Given the description of an element on the screen output the (x, y) to click on. 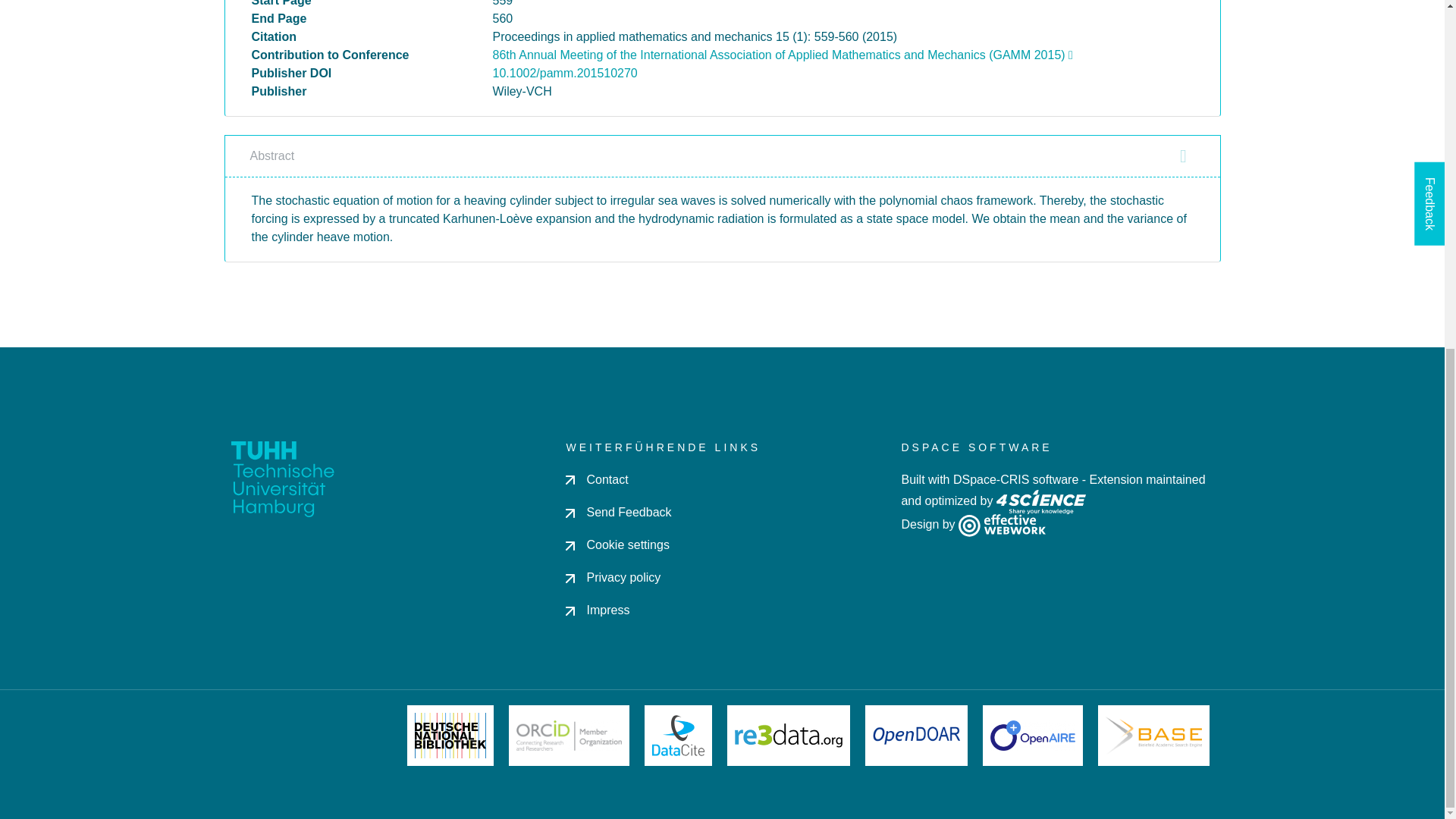
effective webwork GmbH Hamburg (1001, 523)
Close section (1183, 156)
Abstract (722, 155)
